Given the description of an element on the screen output the (x, y) to click on. 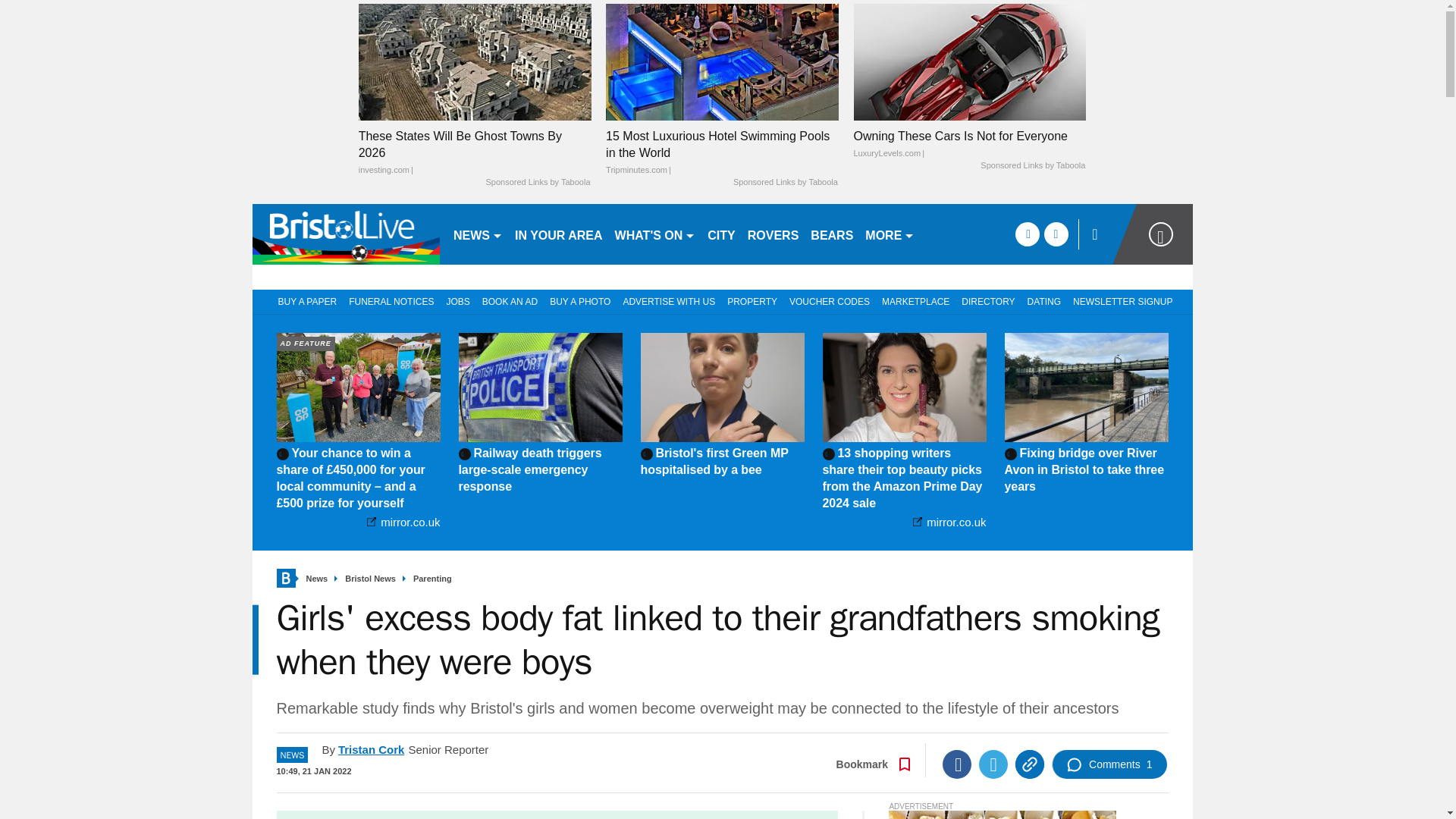
NEWS (477, 233)
WHAT'S ON (654, 233)
Facebook (956, 764)
Comments (1108, 764)
These States Will Be Ghost Towns By 2026 (474, 152)
facebook (1026, 233)
15 Most Luxurious Hotel Swimming Pools in the World (721, 152)
Sponsored Links by Taboola (785, 182)
IN YOUR AREA (558, 233)
Owning These Cars Is Not for Everyone (969, 144)
Sponsored Links by Taboola (536, 182)
Sponsored Links by Taboola (1031, 165)
bristolpost (345, 233)
twitter (1055, 233)
Twitter (992, 764)
